Given the description of an element on the screen output the (x, y) to click on. 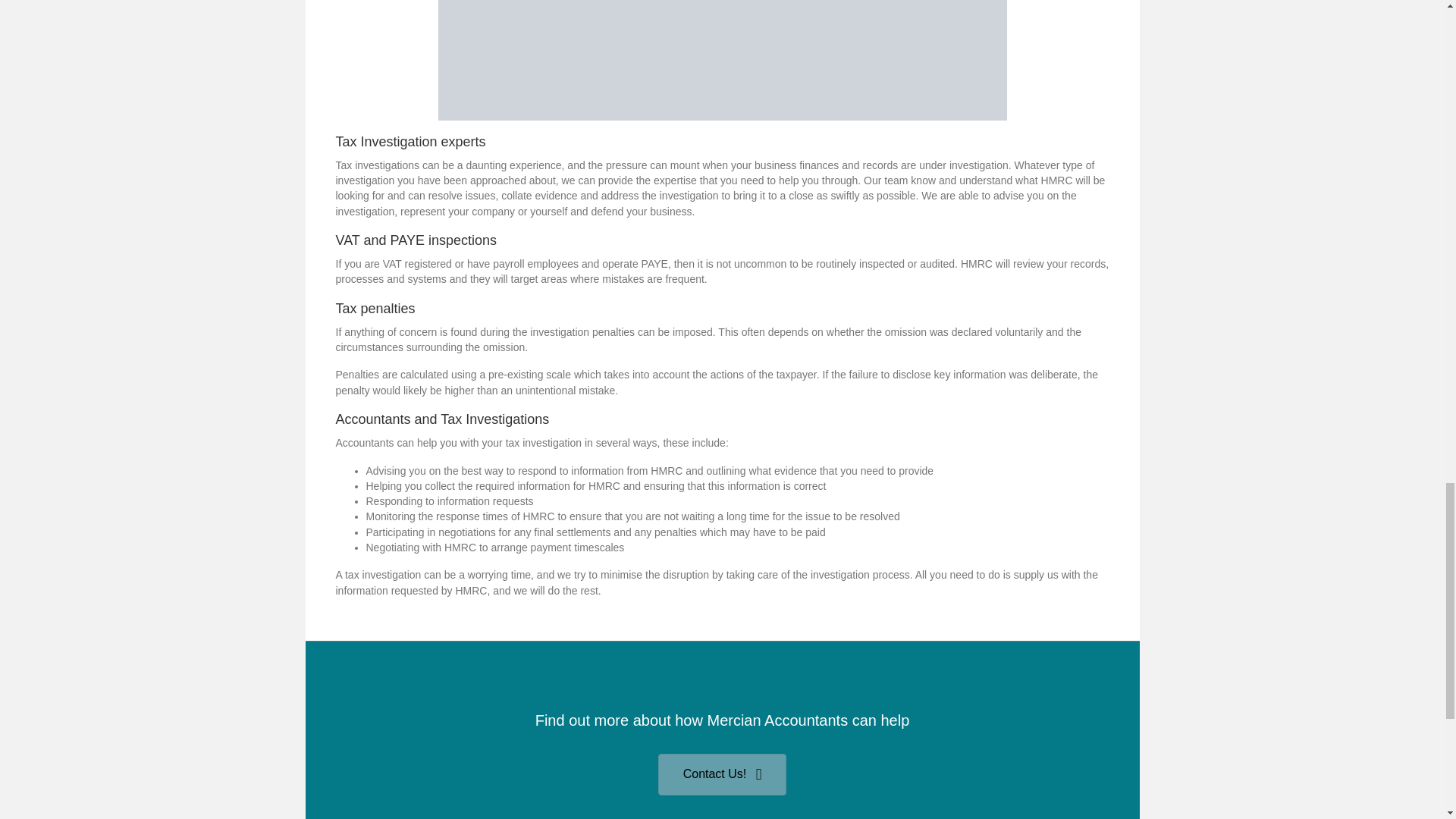
Tax Investigations 1 (722, 60)
